Given the description of an element on the screen output the (x, y) to click on. 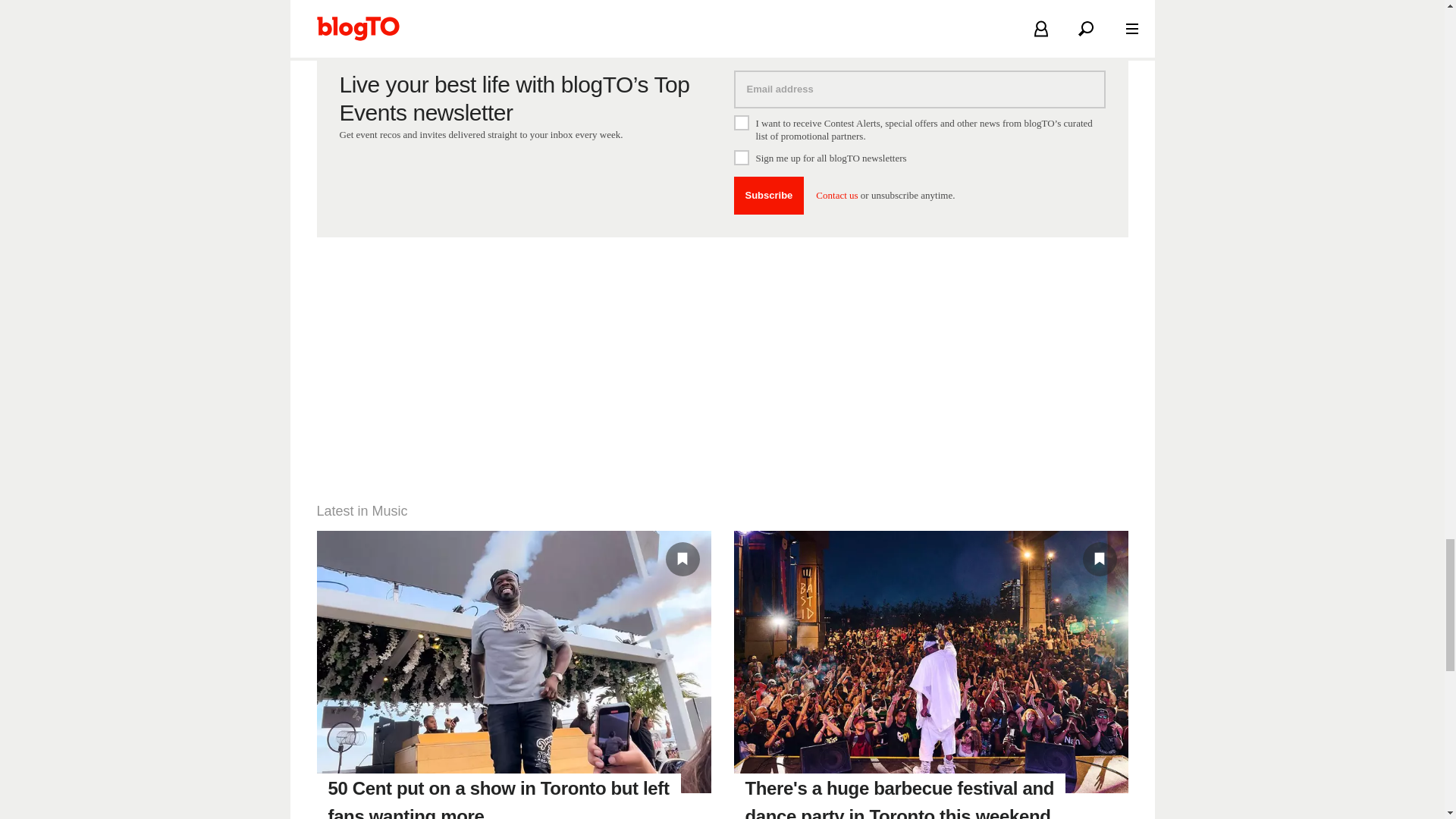
Subscribe (769, 195)
